Given the description of an element on the screen output the (x, y) to click on. 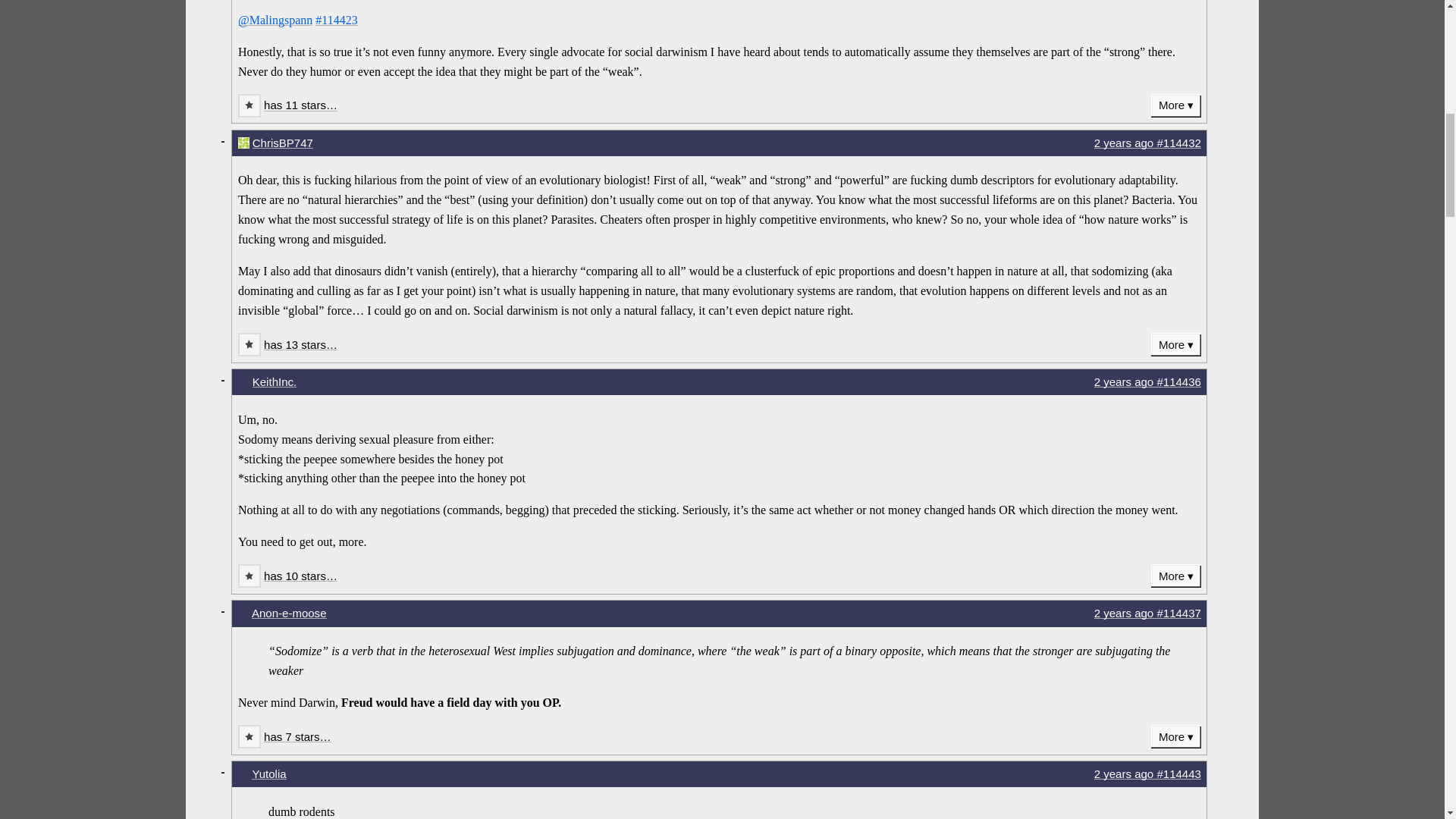
Log in to vote (249, 344)
Log in to vote (249, 105)
Log in to vote (249, 576)
